Given the description of an element on the screen output the (x, y) to click on. 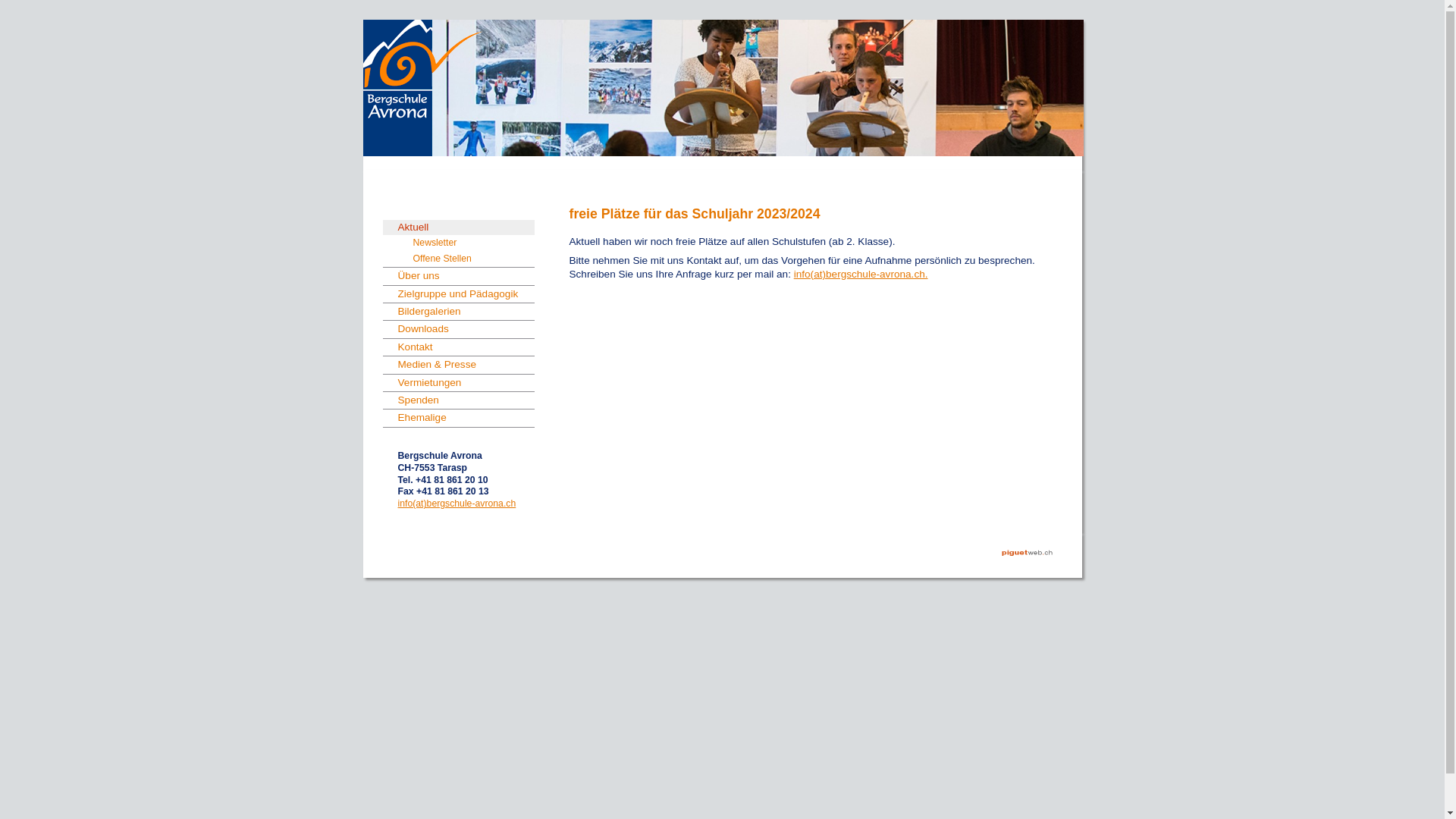
Vermietungen Element type: text (457, 382)
Ehemalige Element type: text (457, 417)
Medien & Presse Element type: text (457, 364)
Downloads Element type: text (457, 328)
Newsletter Element type: text (473, 242)
info(at)bergschule-avrona.ch. Element type: text (860, 273)
Bildergalerien Element type: text (457, 311)
Offene Stellen Element type: text (473, 258)
Spenden Element type: text (457, 399)
info(at)bergschule-avrona.ch Element type: text (456, 503)
Kontakt Element type: text (457, 346)
Aktuell Element type: text (457, 227)
